Given the description of an element on the screen output the (x, y) to click on. 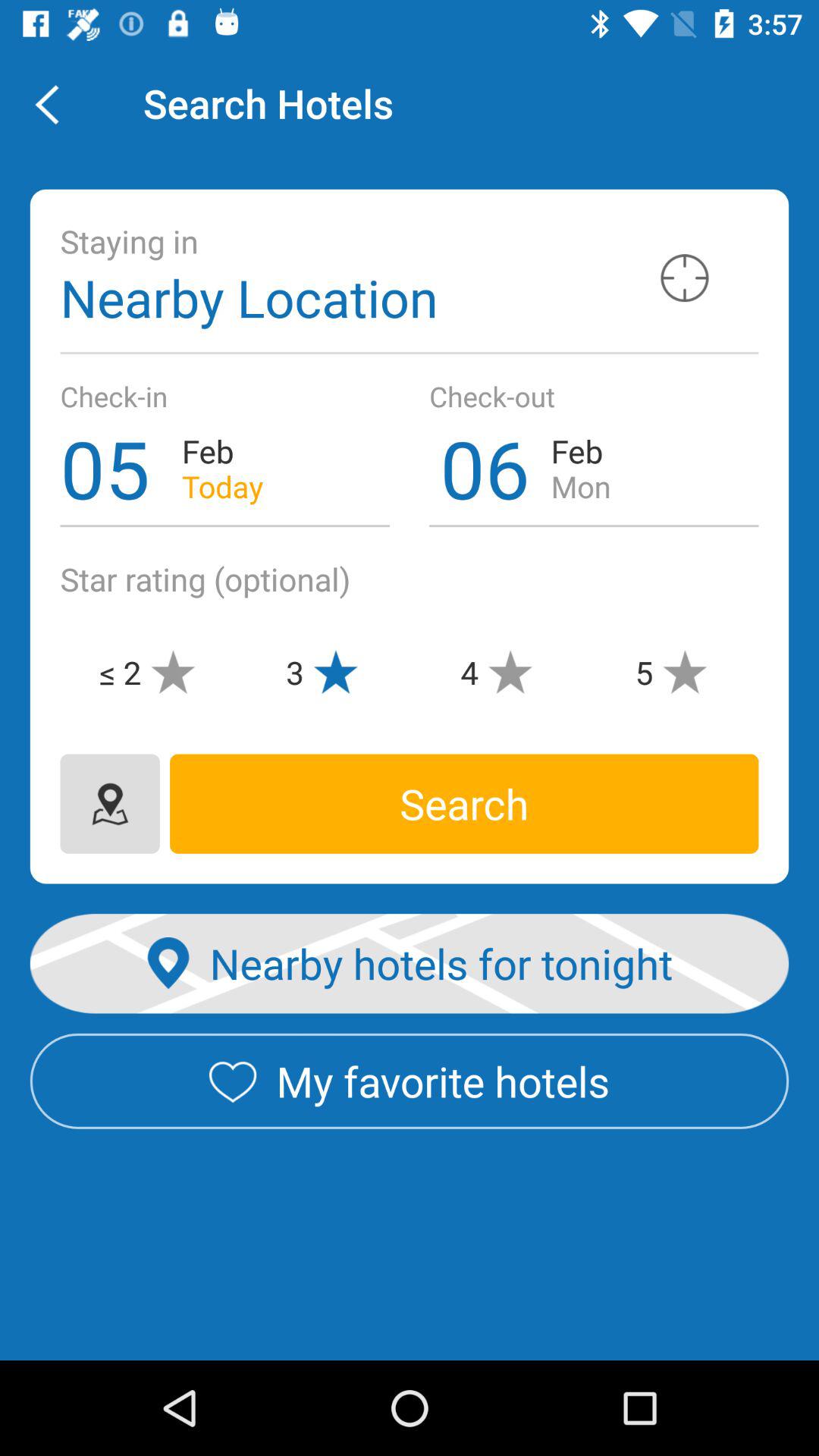
a map icon with a pinpoint on top of it when pressed leads to a map of the location (109, 803)
